Given the description of an element on the screen output the (x, y) to click on. 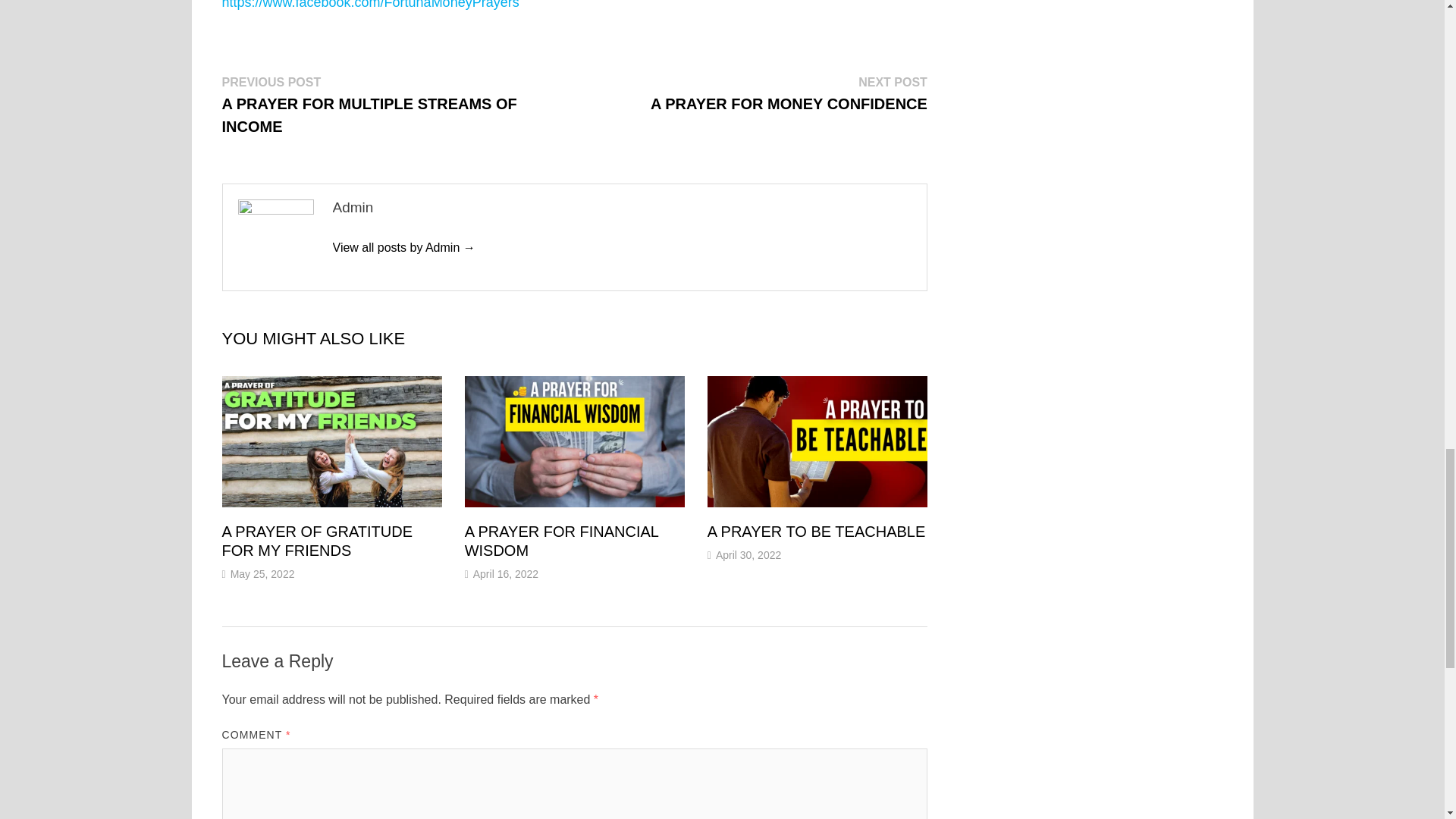
A PRAYER TO BE TEACHABLE (816, 531)
Admin (402, 246)
A PRAYER FOR FINANCIAL WISDOM (561, 540)
A PRAYER OF GRATITUDE FOR MY FRIENDS (316, 540)
